Given the description of an element on the screen output the (x, y) to click on. 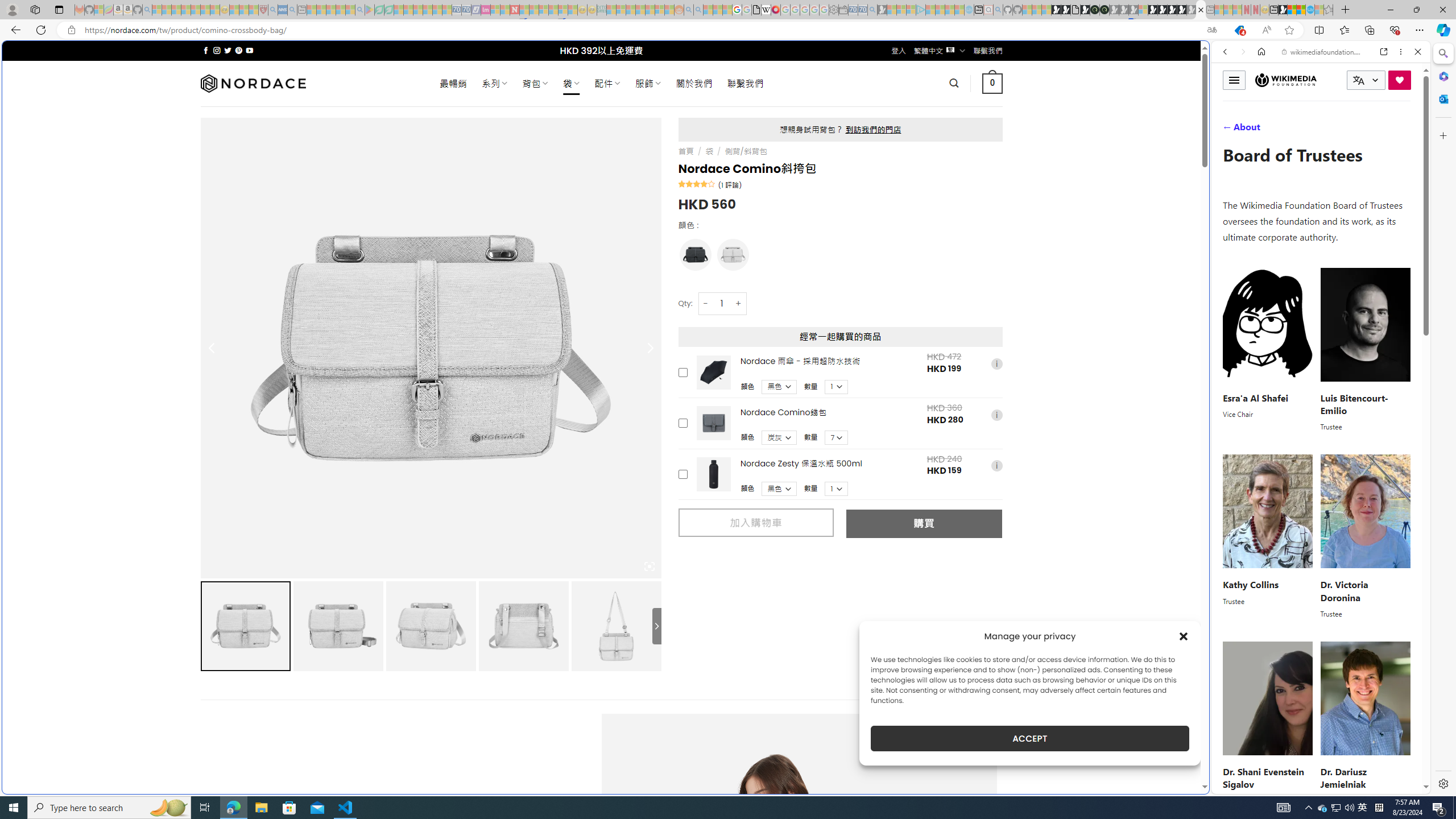
Wiktionary (1315, 380)
